Given the description of an element on the screen output the (x, y) to click on. 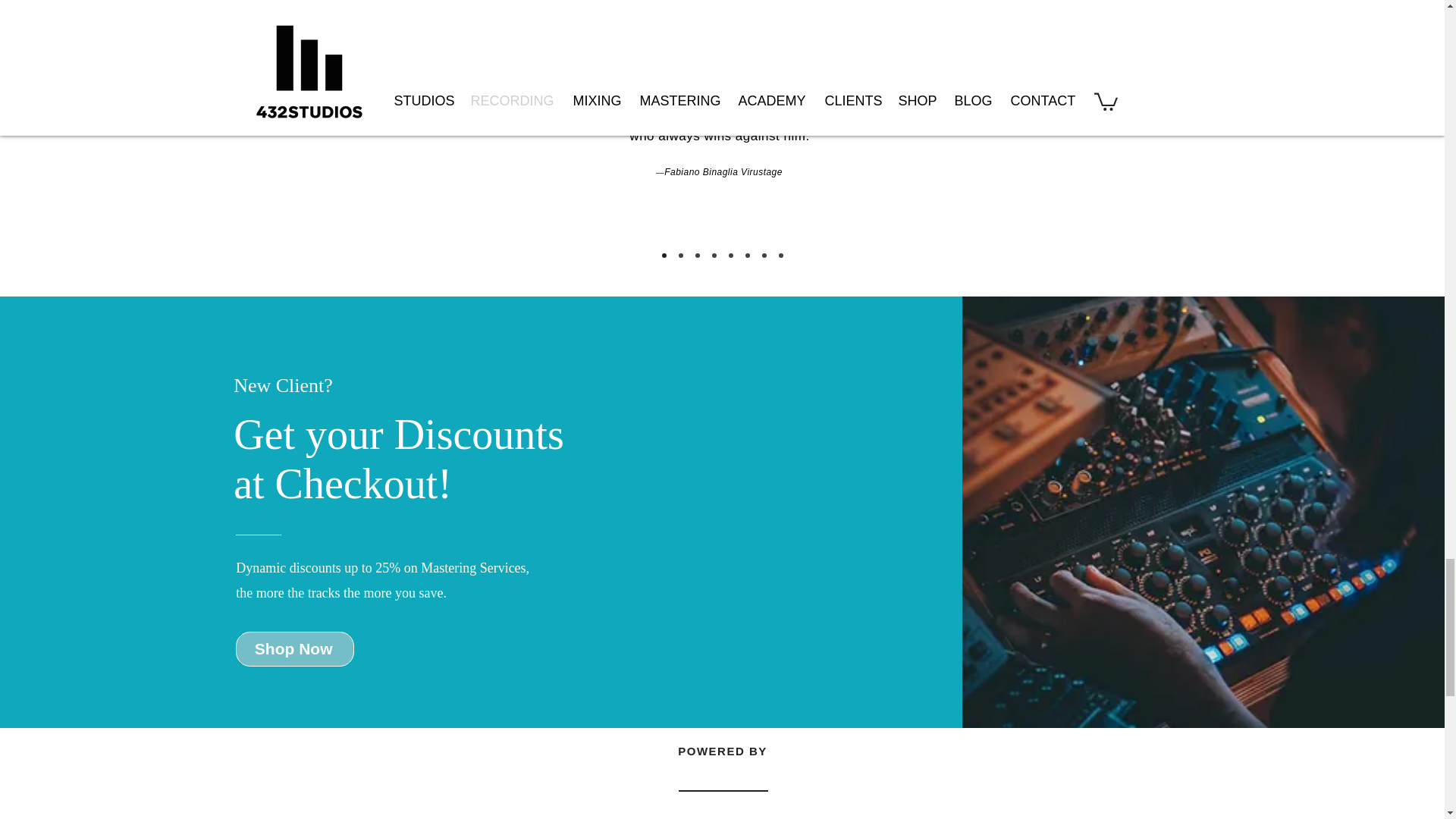
Shop Now (294, 648)
Fabiano Binaglia Virustage (723, 172)
